Given the description of an element on the screen output the (x, y) to click on. 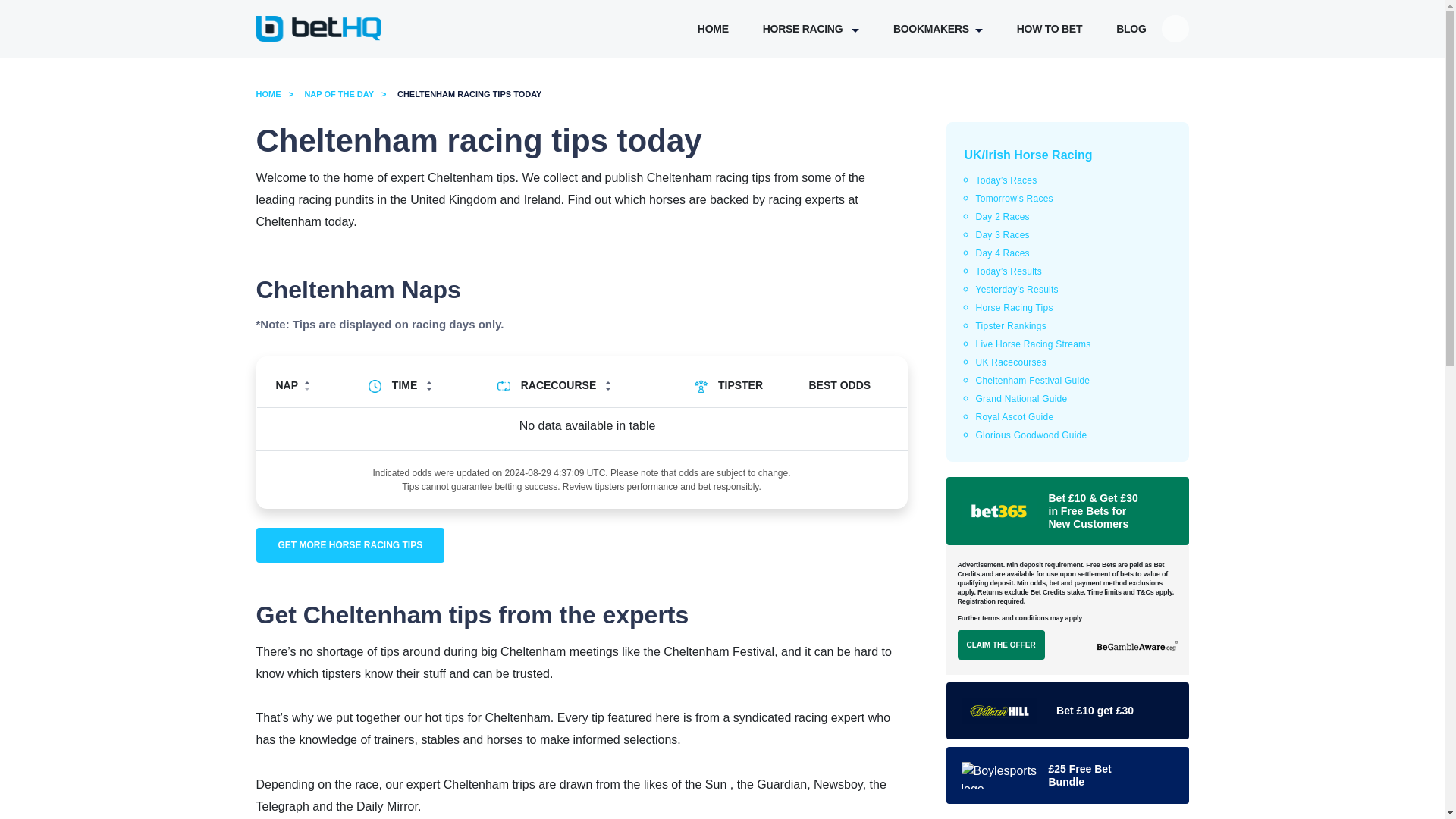
GET MORE HORSE RACING TIPS (350, 544)
HORSE RACING (810, 28)
BOOKMAKERS (937, 28)
tipsters performance (636, 486)
HOME (278, 93)
HOME (713, 28)
BLOG (1130, 28)
Search (1297, 21)
HOW TO BET (1048, 28)
NAP OF THE DAY (348, 93)
